Given the description of an element on the screen output the (x, y) to click on. 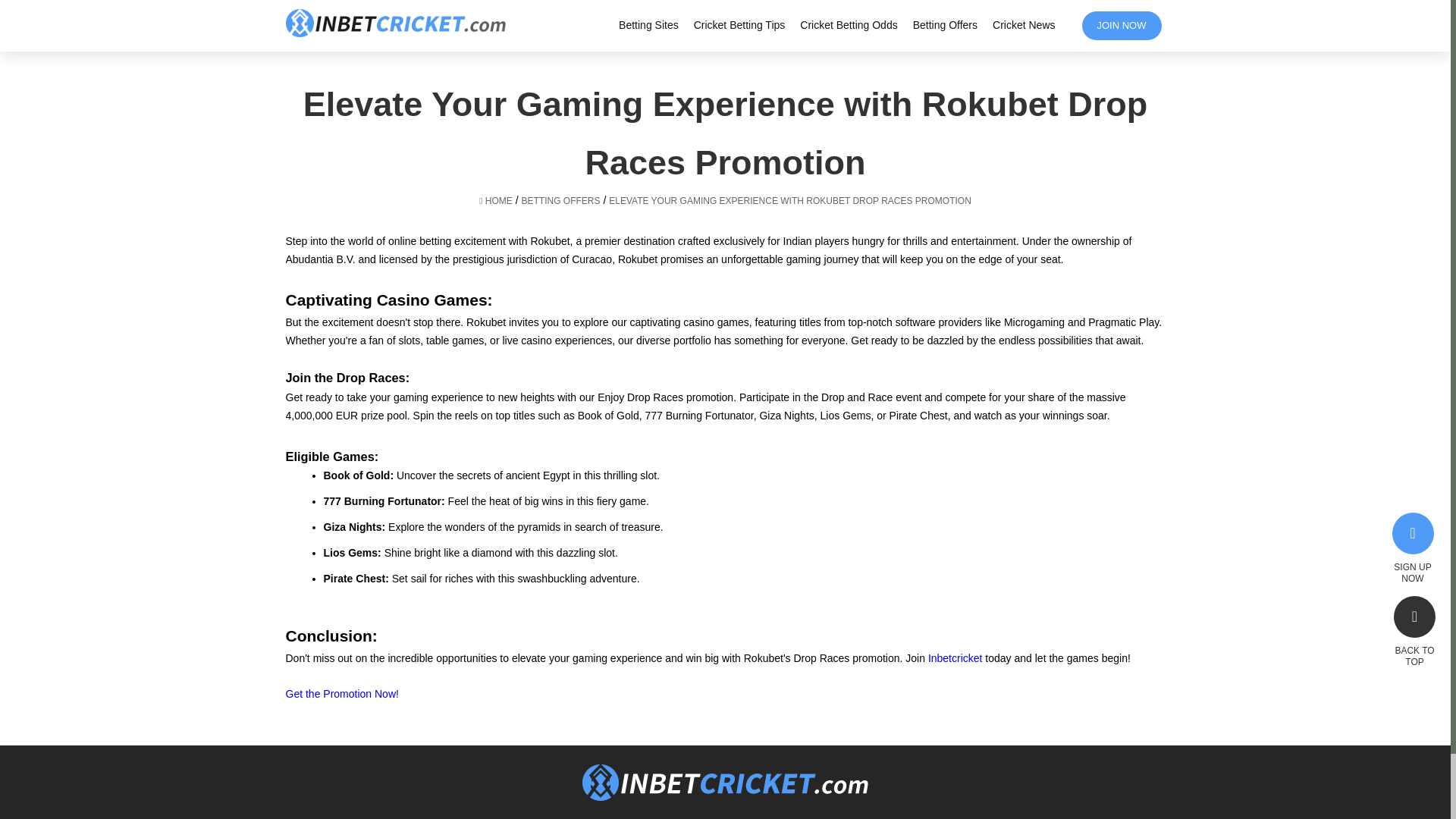
Cricket Betting Odds (847, 24)
Cricket Betting Tips (740, 24)
Cricket Betting Odds (847, 24)
JOIN NOW (1120, 25)
Betting Sites (648, 24)
Betting Offers (560, 200)
Betting Offers (944, 24)
Cricket Betting Tips (740, 24)
Betting Offers (944, 24)
HOME (495, 200)
Inbetcricket (956, 657)
Cricket News (1023, 24)
HOME (495, 200)
